Given the description of an element on the screen output the (x, y) to click on. 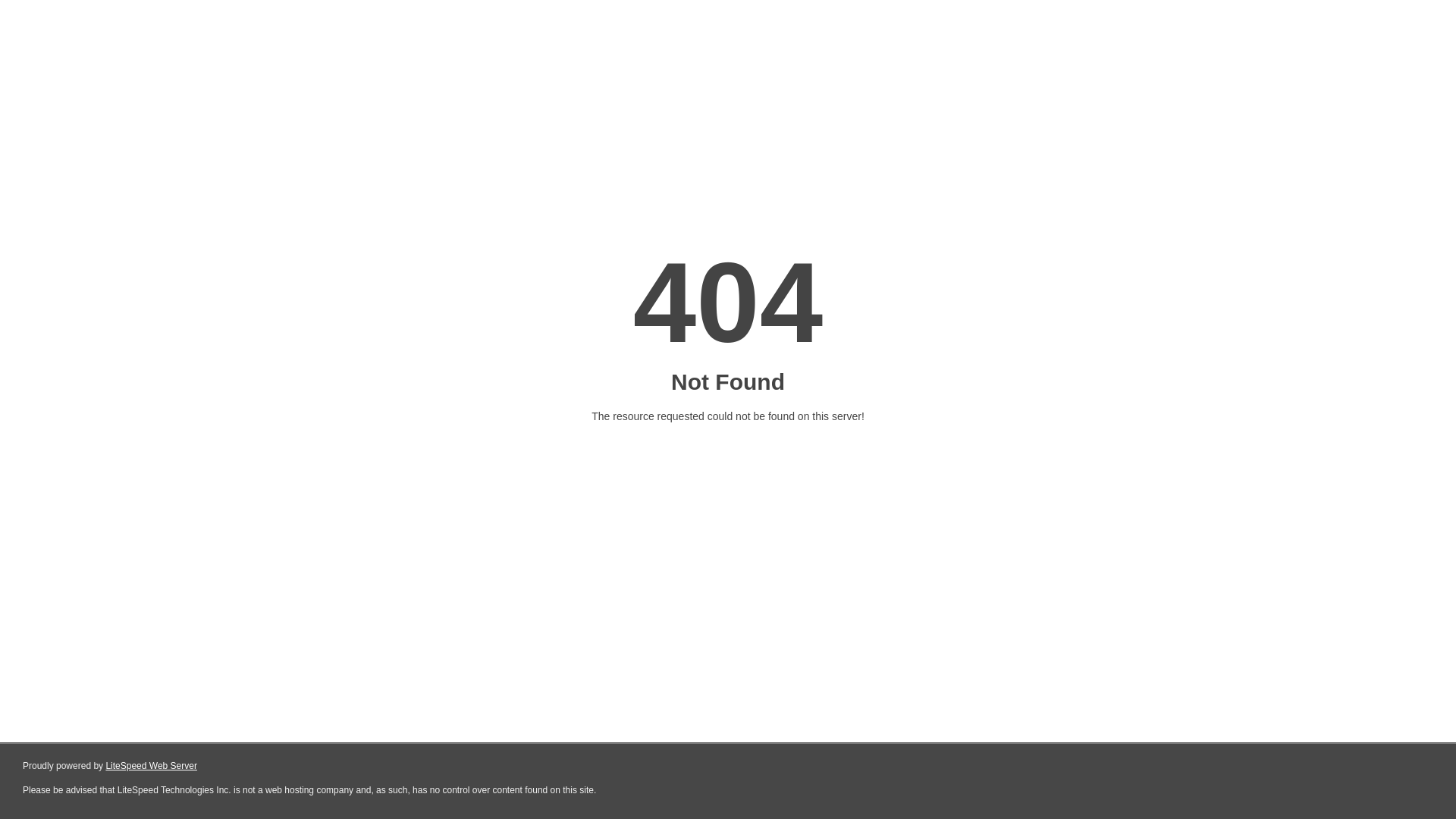
LiteSpeed Web Server Element type: text (151, 765)
